Given the description of an element on the screen output the (x, y) to click on. 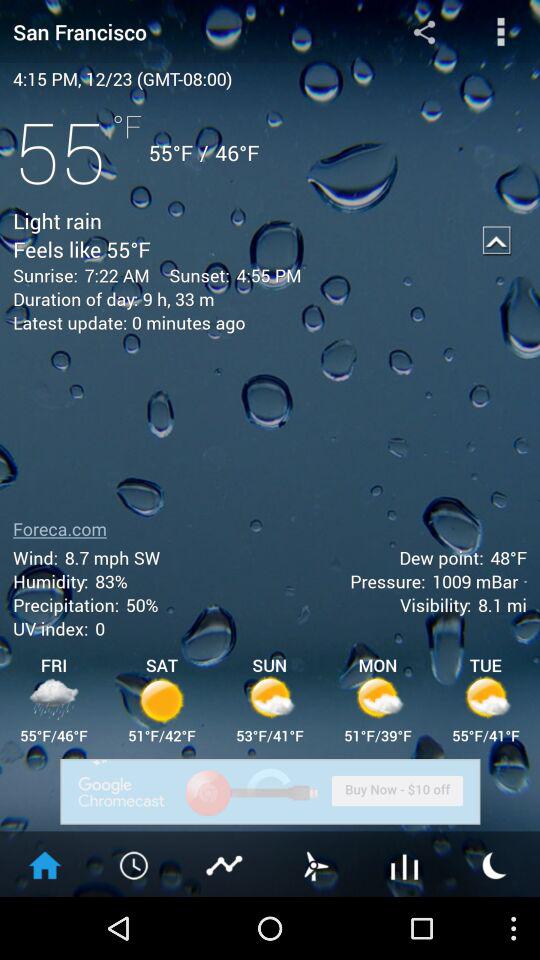
show temperature graph (225, 864)
